Given the description of an element on the screen output the (x, y) to click on. 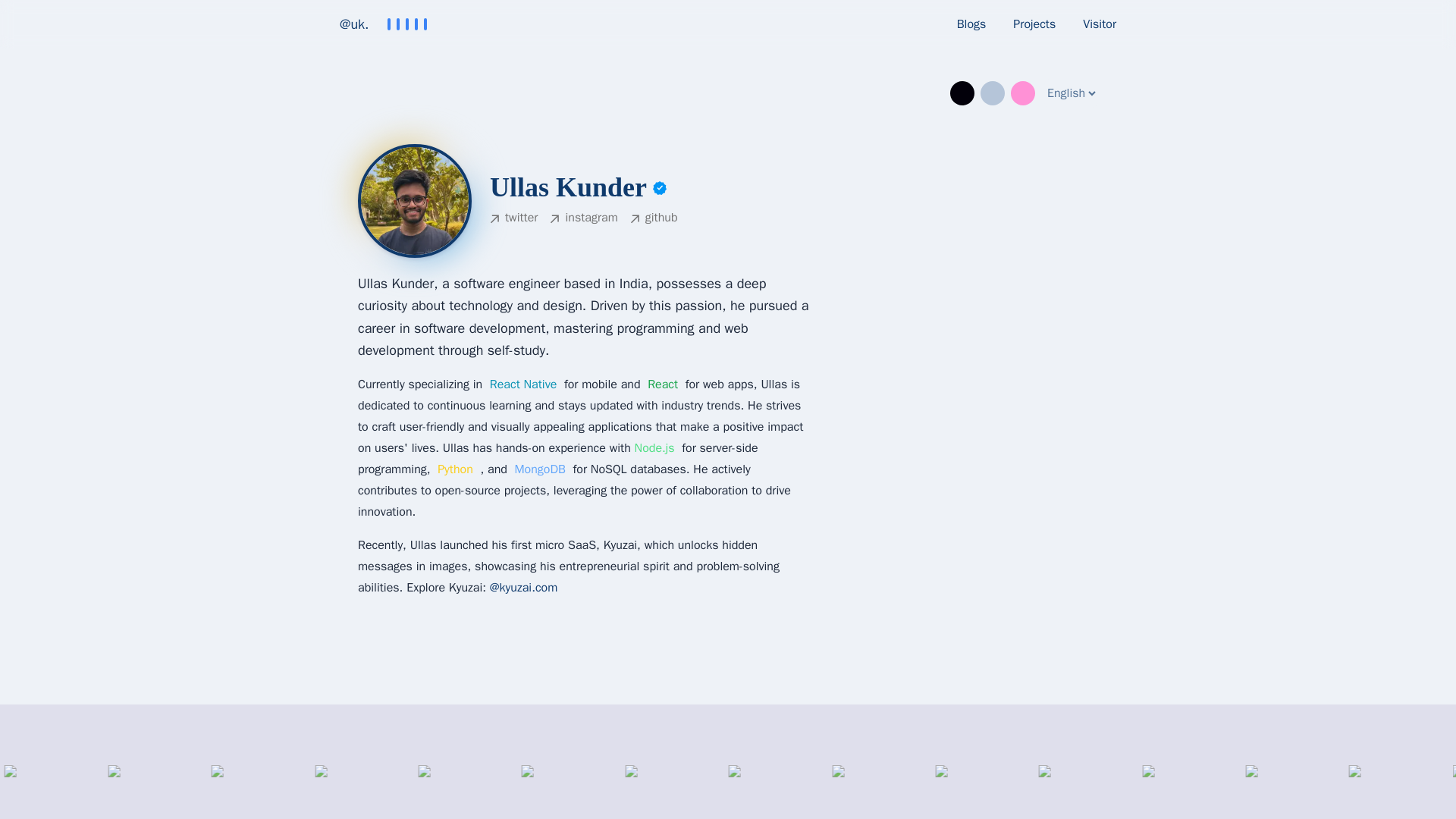
MongoDB (538, 468)
blender icon (85, 783)
React Native (523, 384)
React (662, 384)
github (654, 219)
ullas kunder profile image (567, 186)
git icon (289, 783)
Python (455, 468)
micro saas redirect (523, 587)
Projects (1034, 24)
html icon (598, 783)
Blogs (971, 24)
MongoDB (538, 468)
github icon (393, 783)
html icon (496, 783)
